Given the description of an element on the screen output the (x, y) to click on. 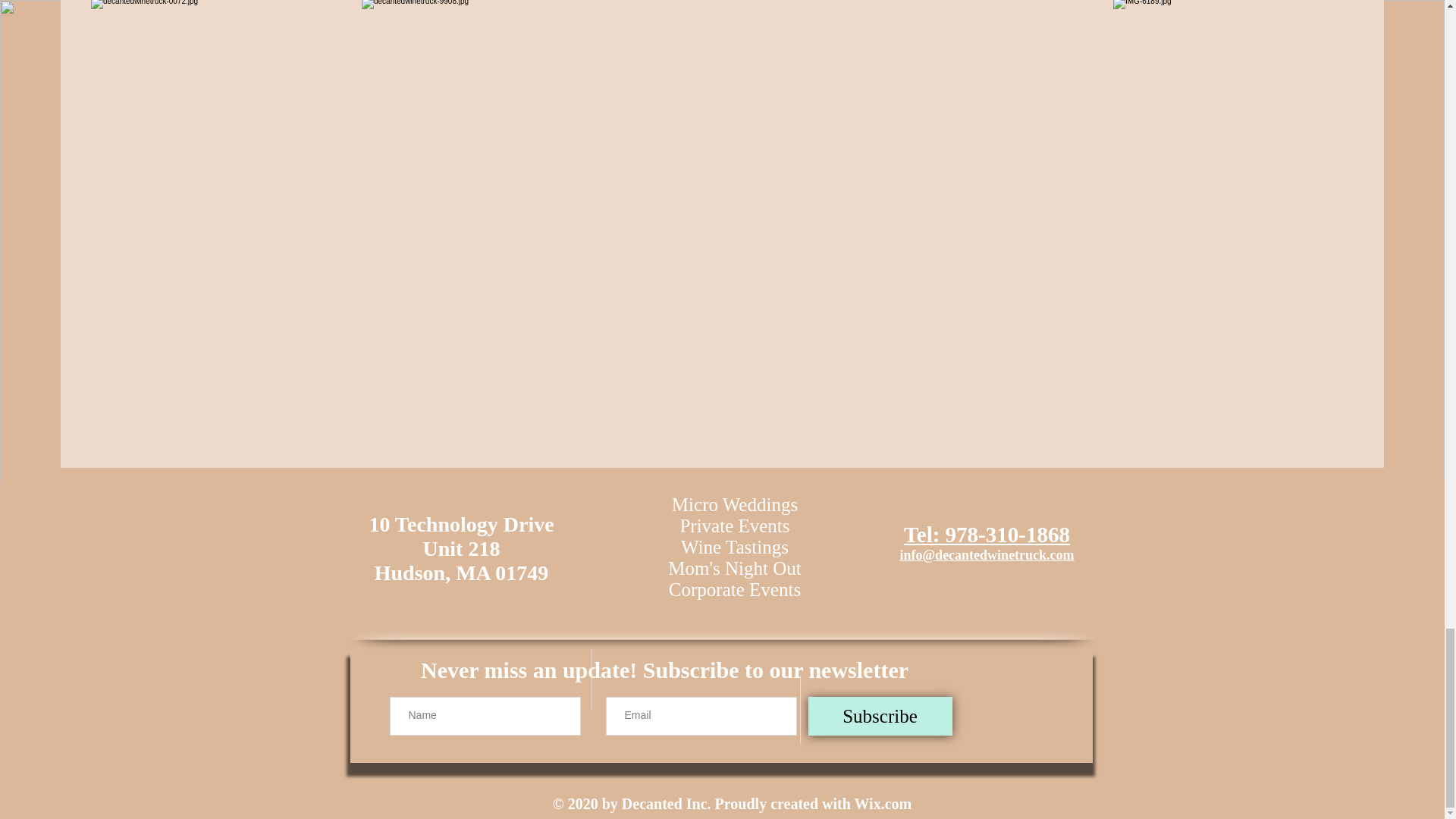
Tel: 978-310-1868 (987, 534)
Subscribe (880, 715)
Wix.com (882, 803)
